Given the description of an element on the screen output the (x, y) to click on. 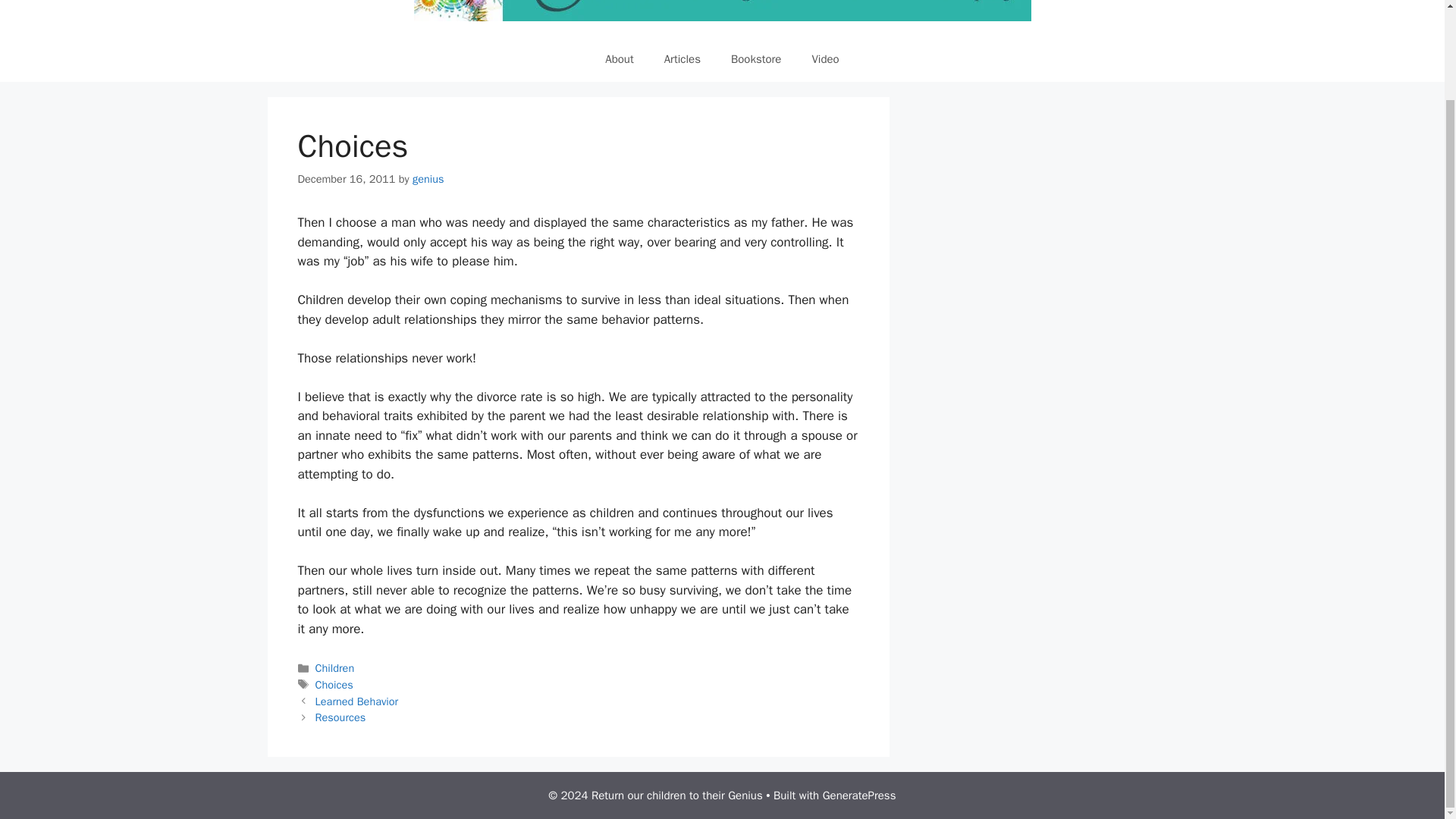
Bookstore (756, 58)
Children (335, 667)
About (618, 58)
Resources (340, 716)
Articles (682, 58)
Learned Behavior (356, 701)
View all posts by genius (428, 178)
genius (428, 178)
Choices (334, 684)
GeneratePress (859, 795)
Video (824, 58)
